Given the description of an element on the screen output the (x, y) to click on. 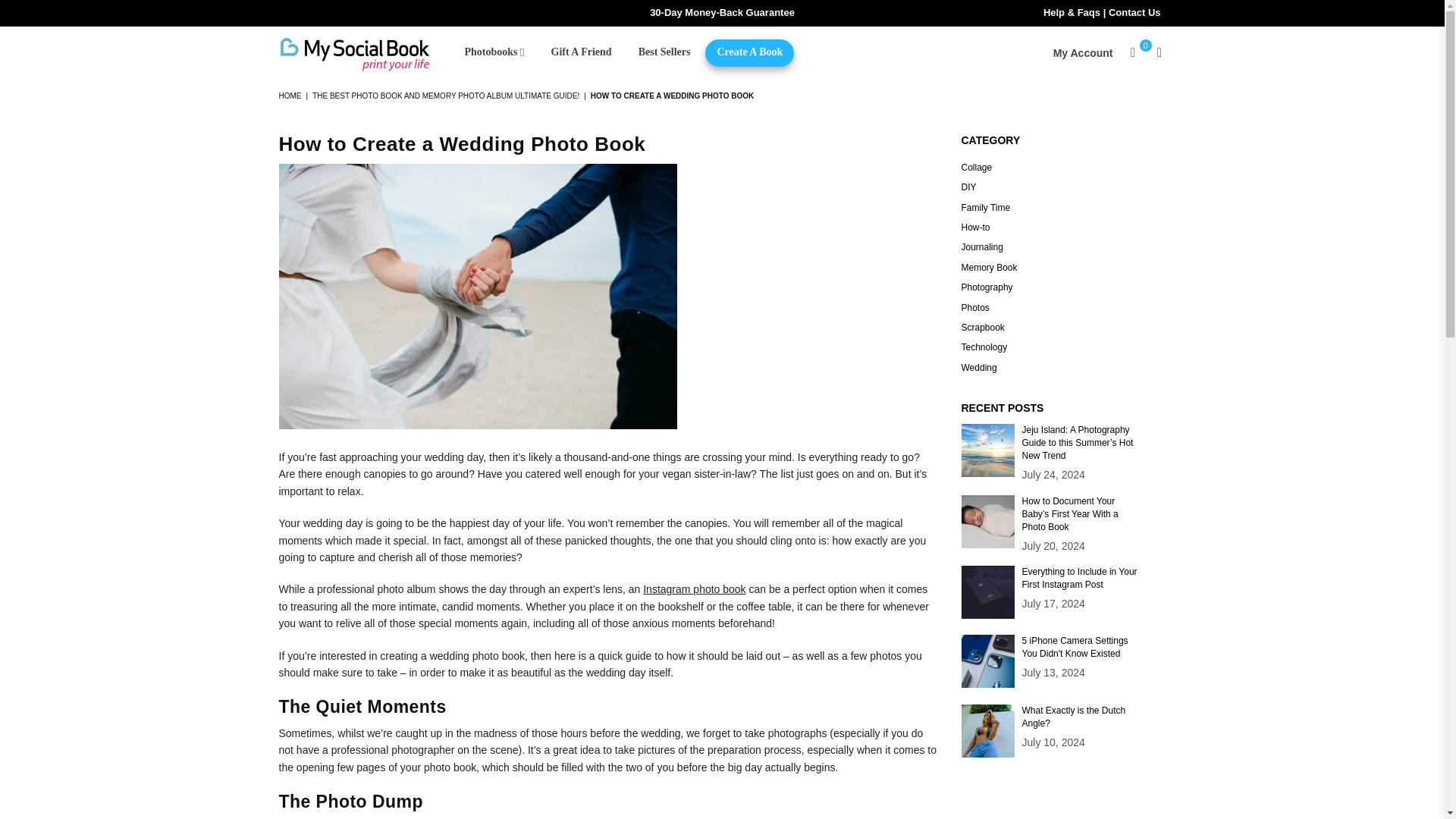
MY SOCIAL BOOK (365, 53)
Show articles tagged Family Time (985, 207)
My Account (1082, 52)
Show articles tagged How-to (975, 226)
Show articles tagged Journaling (981, 246)
Show articles tagged Photography (986, 286)
Cart (1132, 52)
Show articles tagged Memory Book (988, 267)
Show articles tagged Scrapbook (982, 327)
Show articles tagged DIY (968, 186)
